Given the description of an element on the screen output the (x, y) to click on. 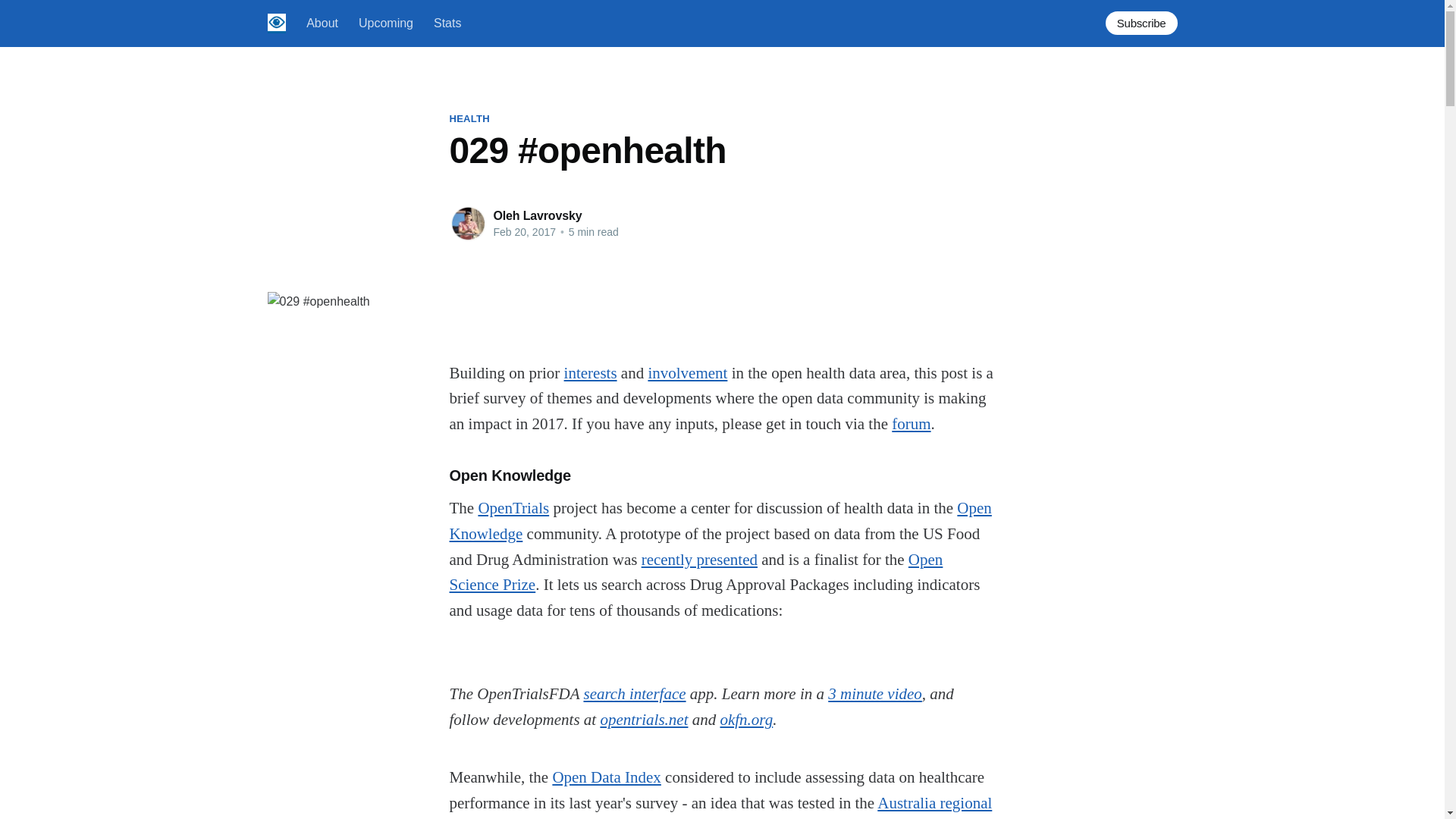
HEALTH (468, 119)
3 minute video (874, 693)
interests (590, 372)
Upcoming (385, 22)
Open Knowledge (719, 520)
Open Data Index (606, 777)
okfn.org (746, 719)
Subscribe (1141, 23)
About (321, 22)
search interface (634, 693)
forum (910, 423)
Open Science Prize (695, 572)
opentrials.net (643, 719)
Stats (447, 22)
Oleh Lavrovsky (536, 215)
